Given the description of an element on the screen output the (x, y) to click on. 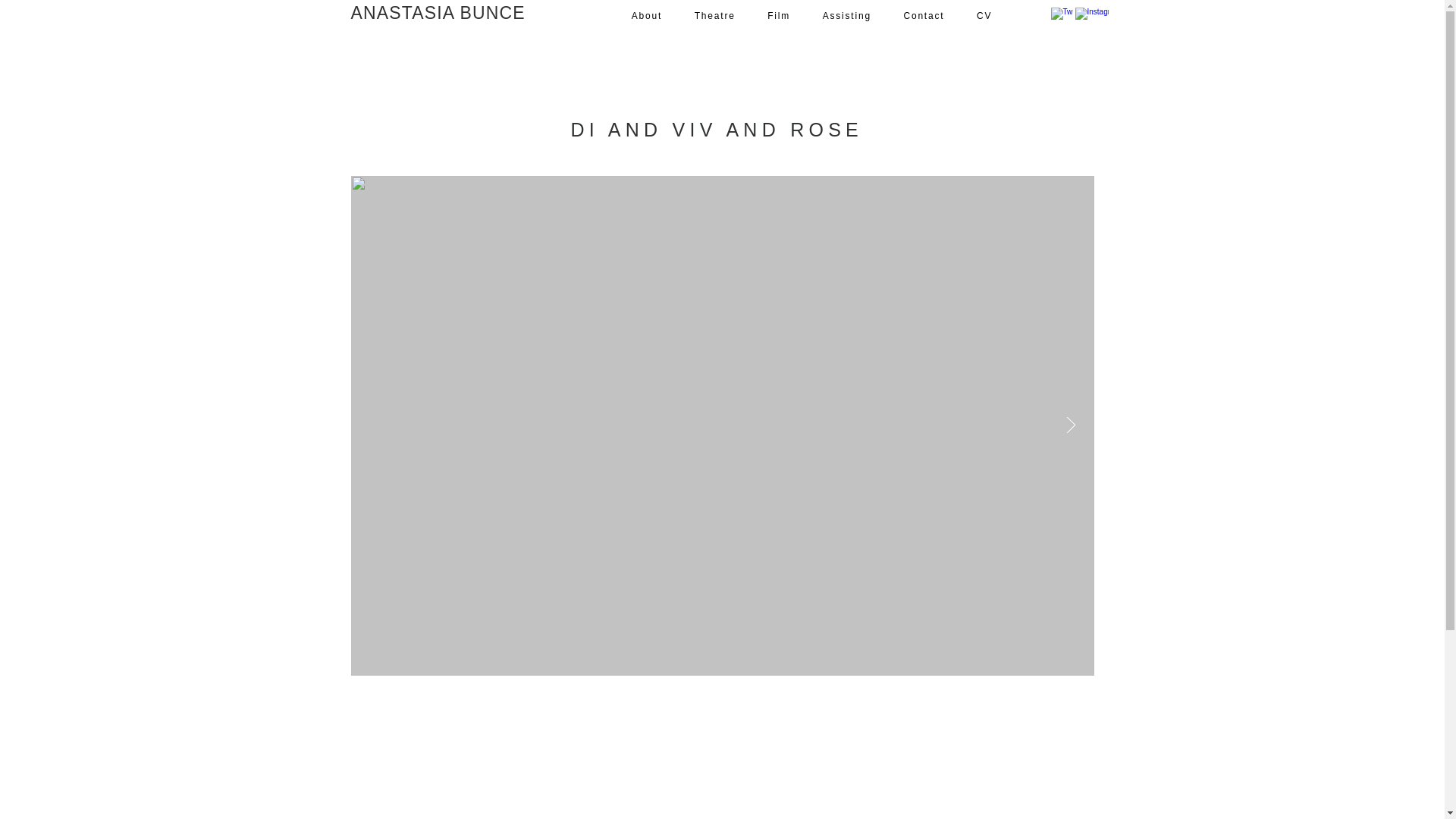
Film (777, 16)
Contact (924, 16)
About (647, 16)
Theatre (714, 16)
ANASTASIA BUNCE (437, 13)
Assisting (846, 16)
CV (984, 16)
